Given the description of an element on the screen output the (x, y) to click on. 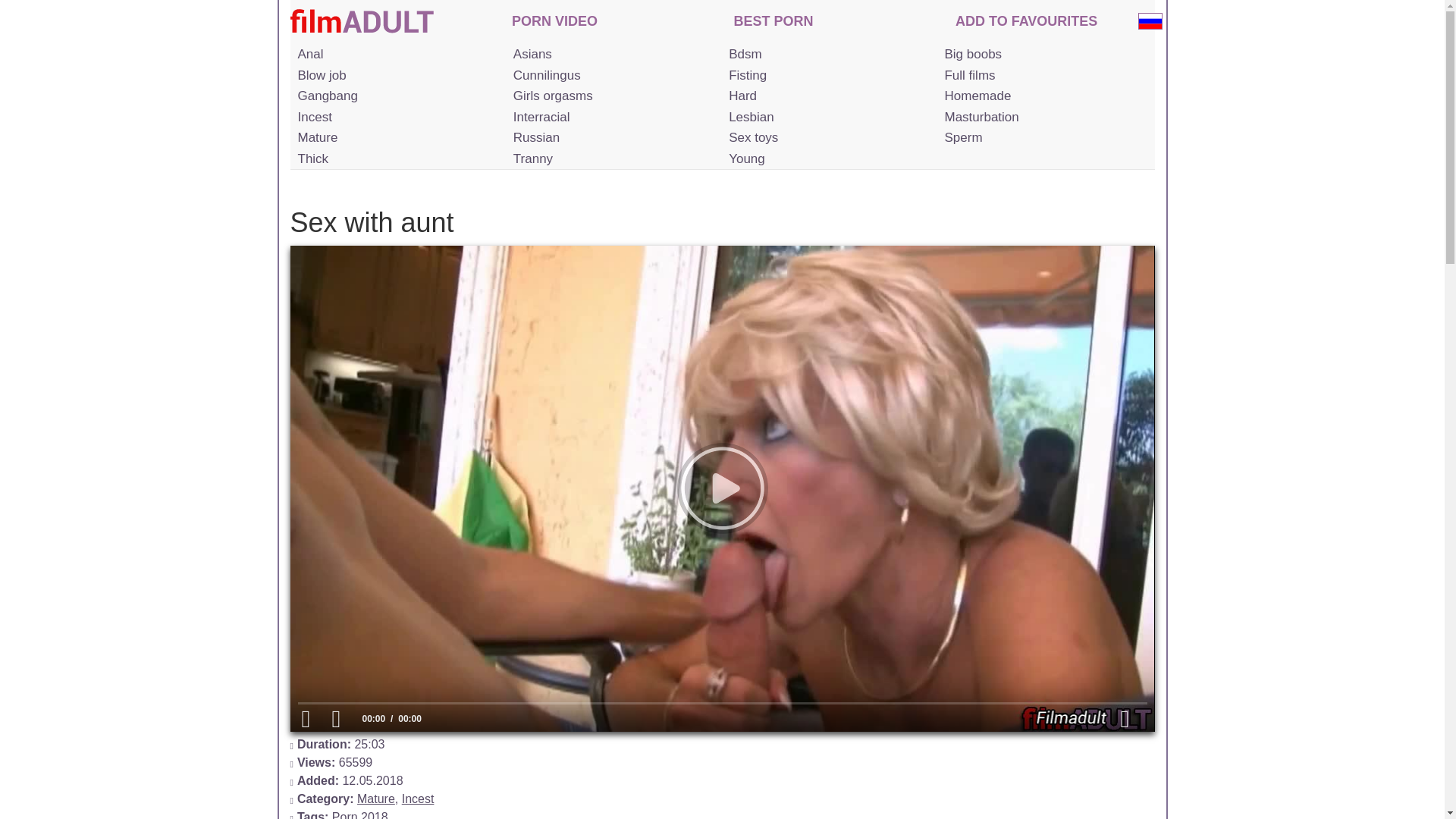
Mature (375, 798)
Sex toys (826, 137)
Blowjob and oral sex (395, 75)
Blow job (395, 75)
Thick (395, 158)
Homemade (1042, 96)
Tranny (611, 158)
Interracial (611, 116)
Lesbian (826, 116)
